Given the description of an element on the screen output the (x, y) to click on. 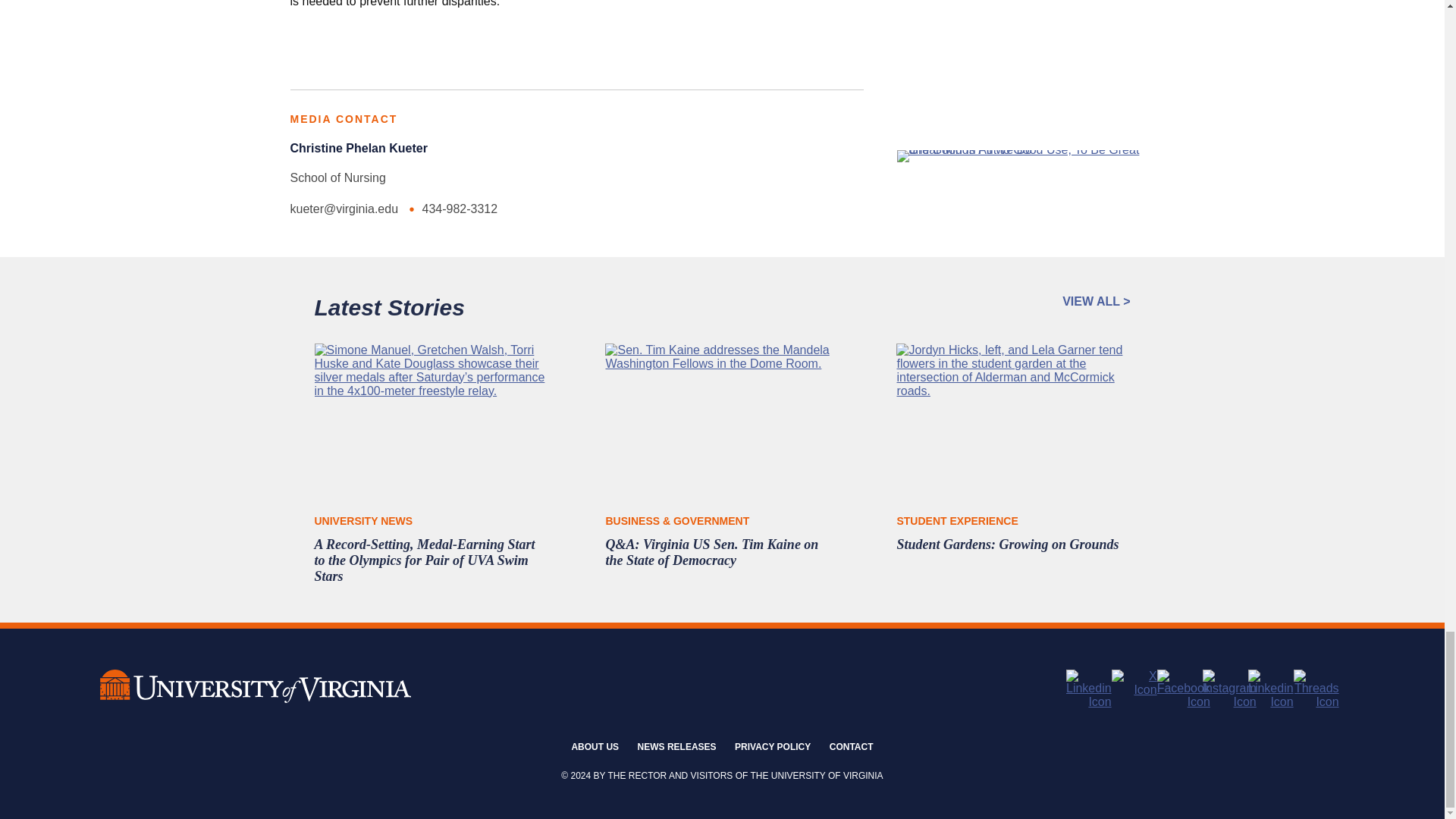
Christine Phelan Kueter (357, 147)
